Given the description of an element on the screen output the (x, y) to click on. 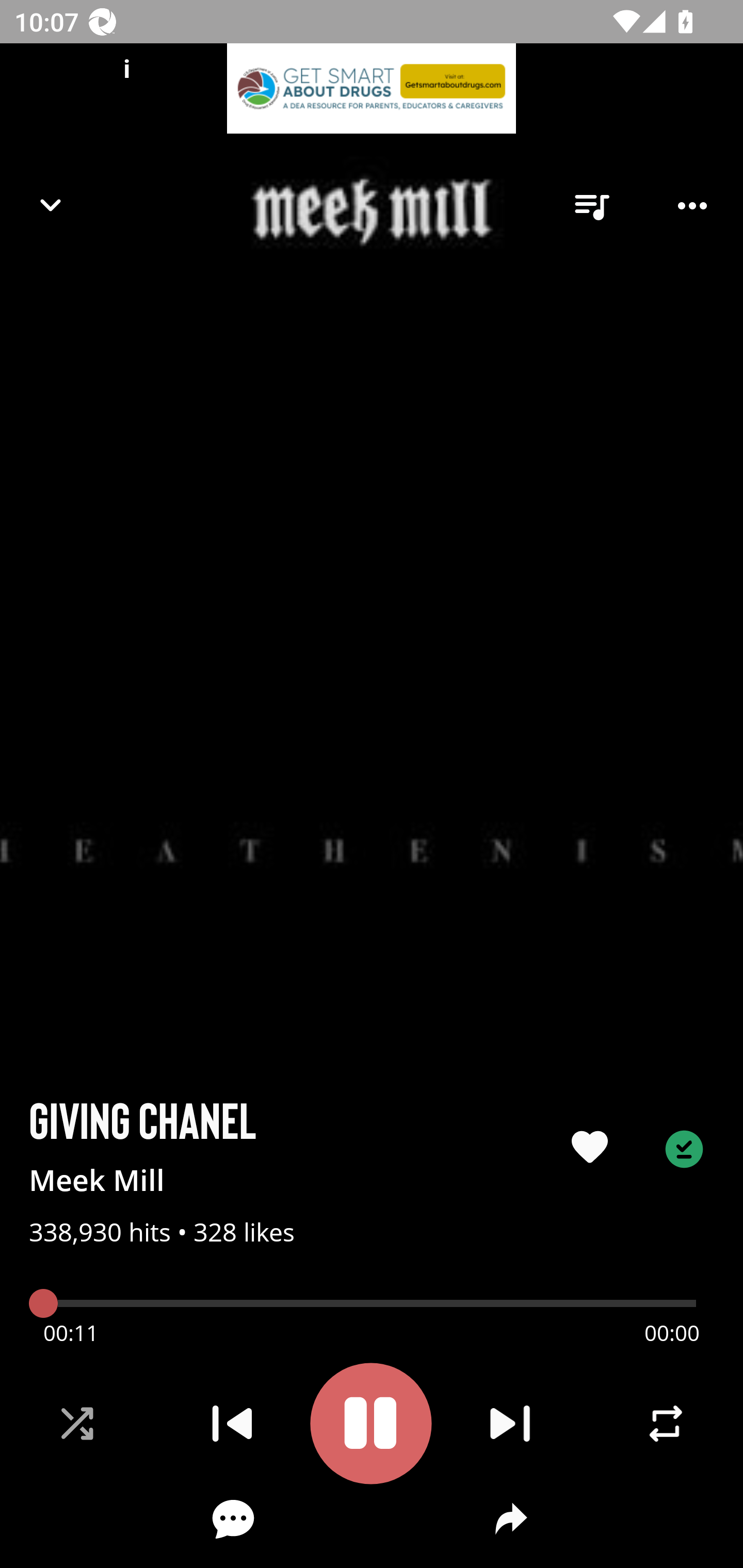
Navigate up (50, 205)
queue (590, 206)
Player options (692, 206)
